Given the description of an element on the screen output the (x, y) to click on. 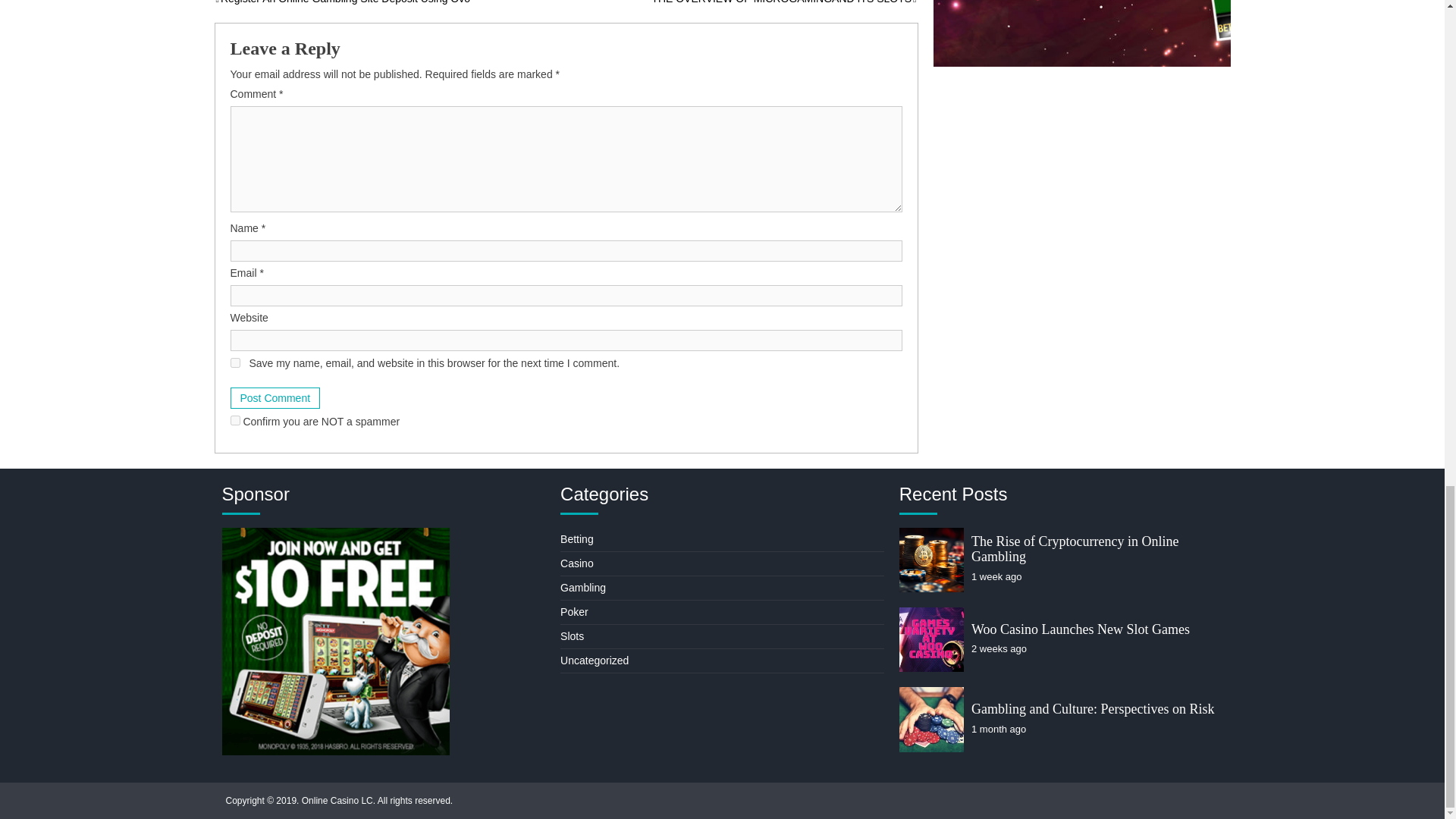
THE OVERVIEW OF MICROGAMINGAND ITS SLOTS (783, 2)
Register An Online Gambling Site Deposit Using Ovo (342, 2)
Post Comment (275, 397)
yes (235, 362)
on (235, 420)
Post Comment (275, 397)
